Given the description of an element on the screen output the (x, y) to click on. 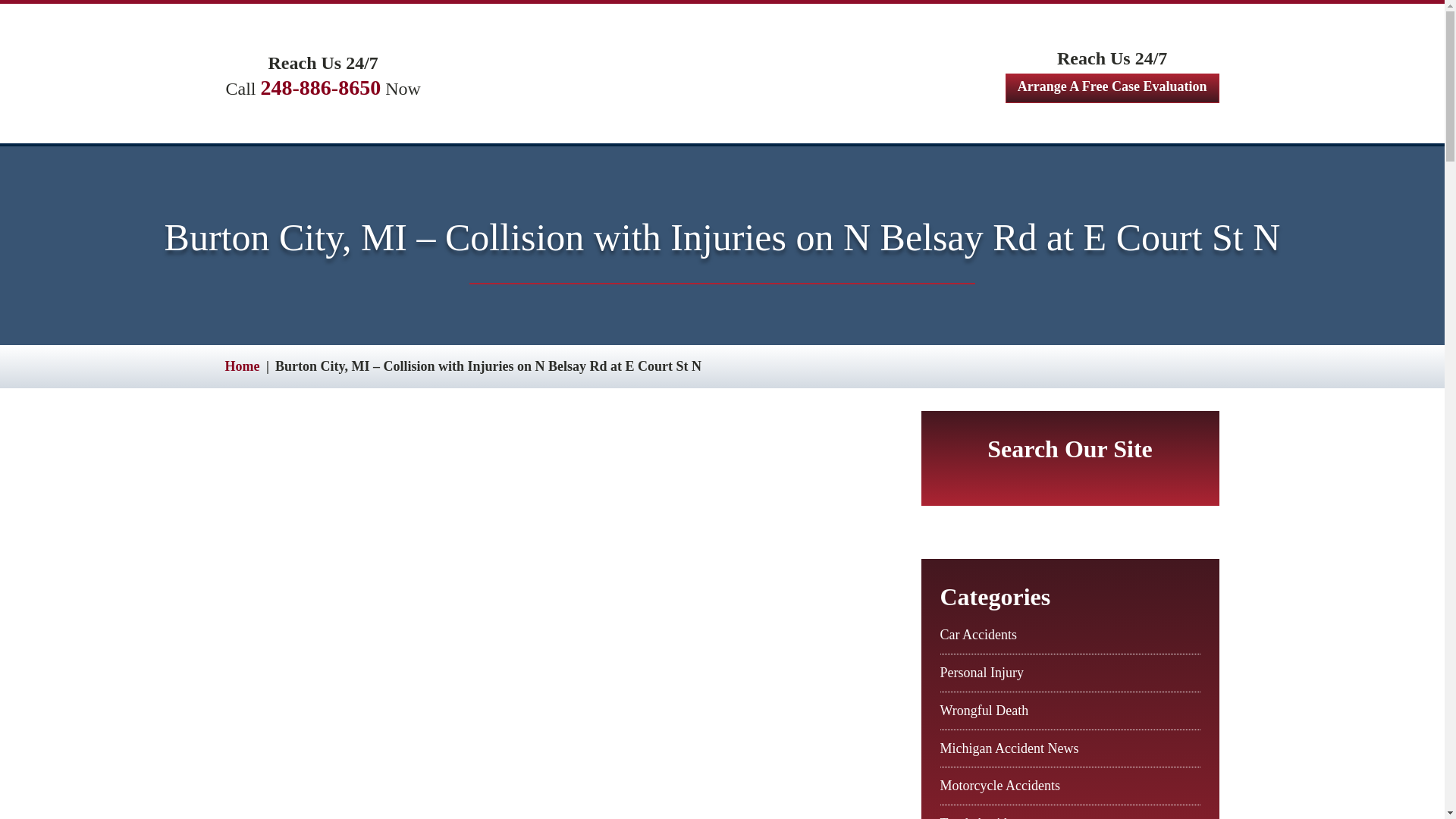
Michigan Accident News (1009, 748)
Wrongful Death (984, 710)
Motorcycle Accidents (999, 785)
Personal Injury (981, 672)
Arrange A Free Case Evaluation (1113, 88)
Truck Accidents (984, 817)
Breadcrumb link to Home (241, 365)
Car Accidents (978, 634)
248-886-8650 (320, 87)
Home (241, 365)
